Given the description of an element on the screen output the (x, y) to click on. 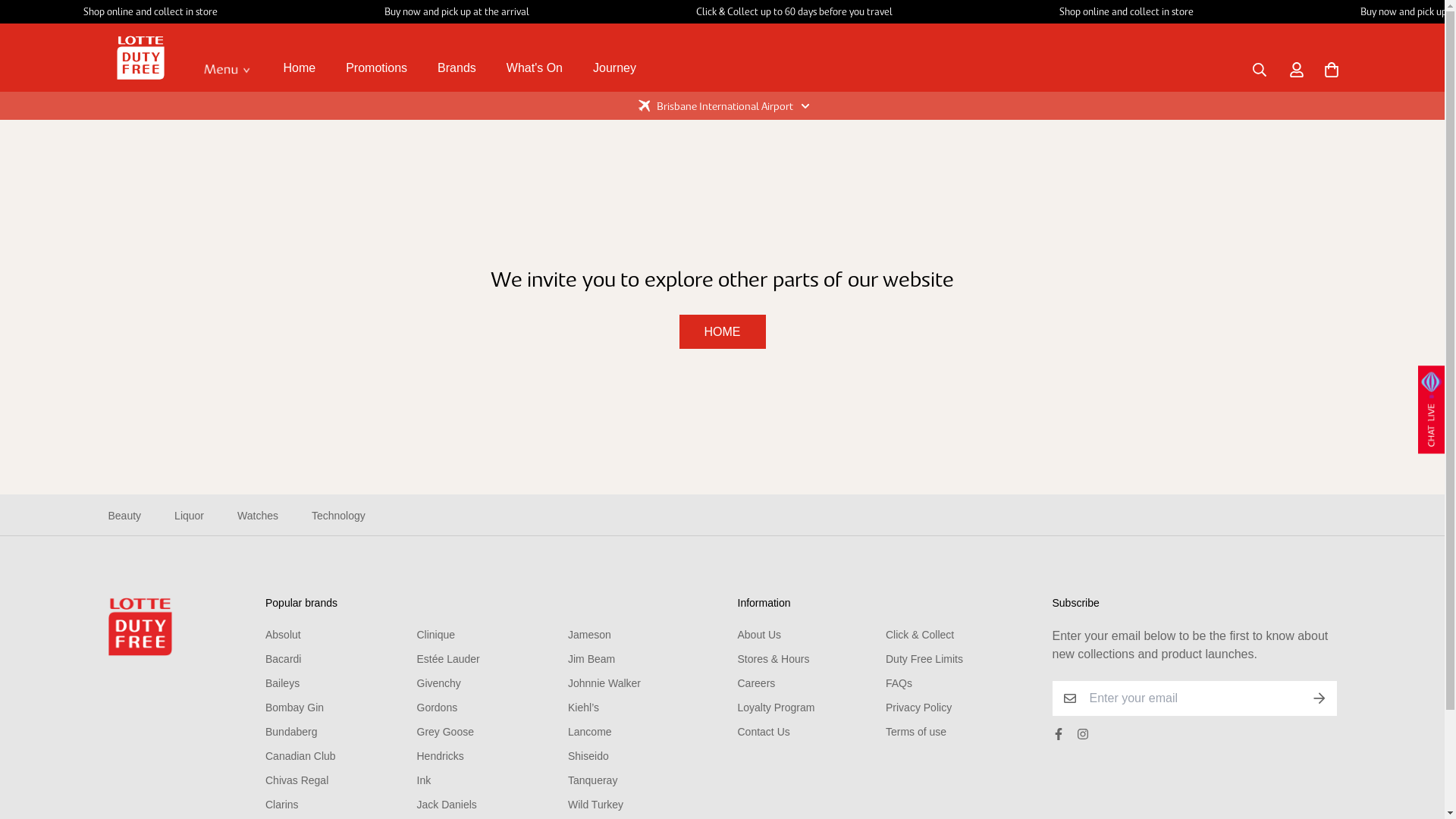
Home Element type: text (299, 67)
Bundaberg Element type: text (291, 731)
Technology Element type: text (338, 515)
Duty Free Limits Element type: text (924, 658)
What's On Element type: text (534, 67)
Jim Beam Element type: text (591, 658)
Gordons Element type: text (437, 707)
Jameson Element type: text (589, 634)
Bacardi Element type: text (283, 658)
Jack Daniels Element type: text (446, 804)
Careers Element type: text (756, 683)
Brisbane International Airport Element type: text (722, 105)
Loyalty Program Element type: text (775, 707)
Givenchy Element type: text (439, 683)
Journey Element type: text (614, 67)
Stores & Hours Element type: text (773, 658)
Tanqueray Element type: text (592, 780)
Canadian Club Element type: text (300, 755)
Hendricks Element type: text (440, 755)
About Us Element type: text (759, 634)
Johnnie Walker Element type: text (603, 683)
Grey Goose Element type: text (445, 731)
Promotions Element type: text (376, 67)
Liquor Element type: text (189, 515)
Clinique Element type: text (436, 634)
HOME Element type: text (722, 331)
Contact Us Element type: text (763, 731)
Baileys Element type: text (282, 683)
Bombay Gin Element type: text (294, 707)
Beauty Element type: text (124, 515)
Ink Element type: text (424, 780)
Brands Element type: text (456, 67)
Absolut Element type: text (283, 634)
Watches Element type: text (257, 515)
Privacy Policy Element type: text (918, 707)
Chivas Regal Element type: text (296, 780)
Click & Collect Element type: text (919, 634)
Shiseido Element type: text (587, 755)
Terms of use Element type: text (915, 731)
Lancome Element type: text (589, 731)
Wild Turkey Element type: text (595, 804)
FAQs Element type: text (898, 683)
Clarins Element type: text (281, 804)
